Given the description of an element on the screen output the (x, y) to click on. 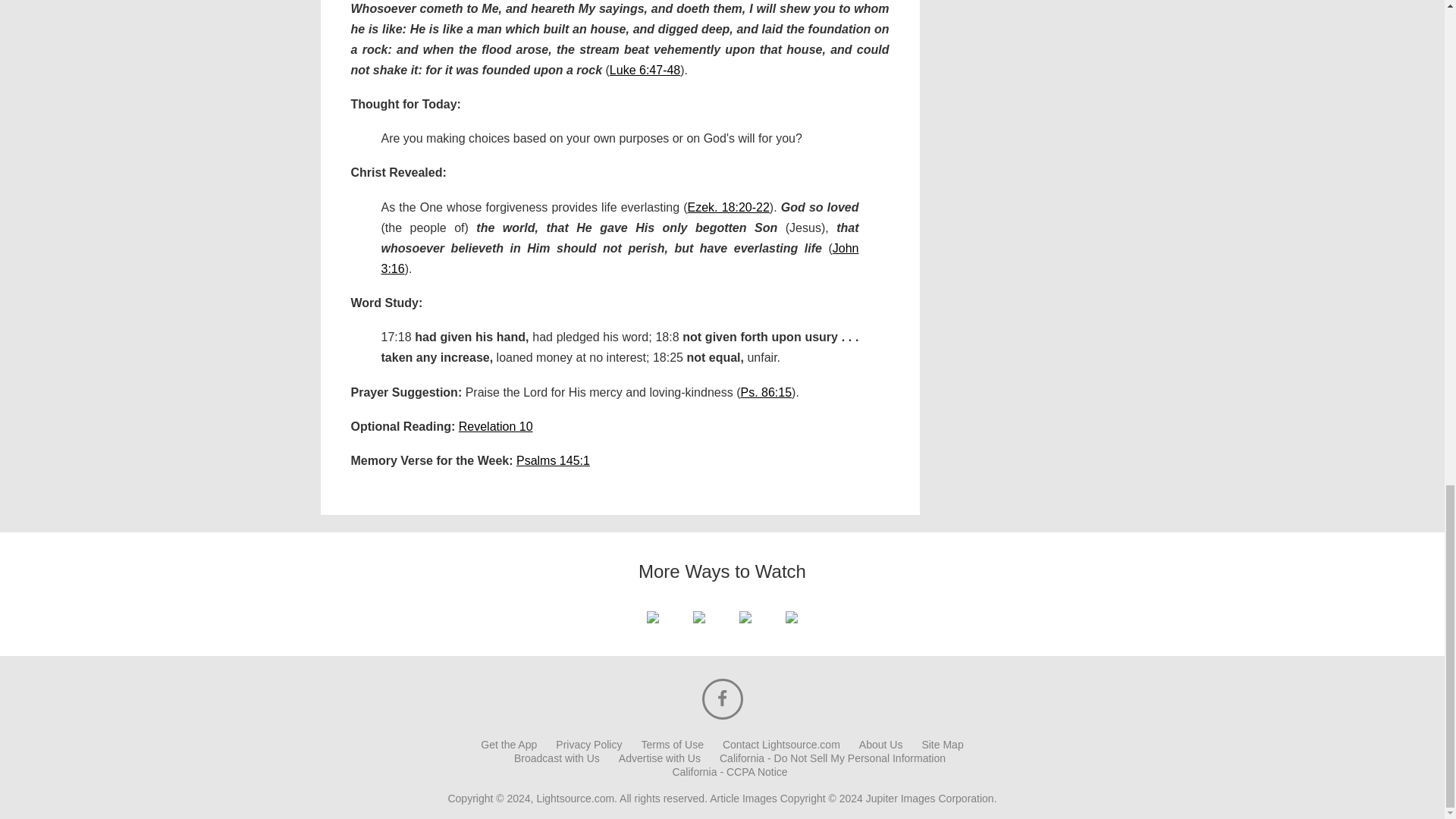
Privacy Policy (588, 744)
Get the App (508, 744)
Revelation 10 (495, 426)
About Us (880, 744)
Advertise with Us (659, 757)
Broadcast with Us (556, 757)
Luke 6:47-48 (644, 69)
Terms of Use (671, 744)
John 3:16 (619, 258)
Psalms 145:1 (552, 460)
